Given the description of an element on the screen output the (x, y) to click on. 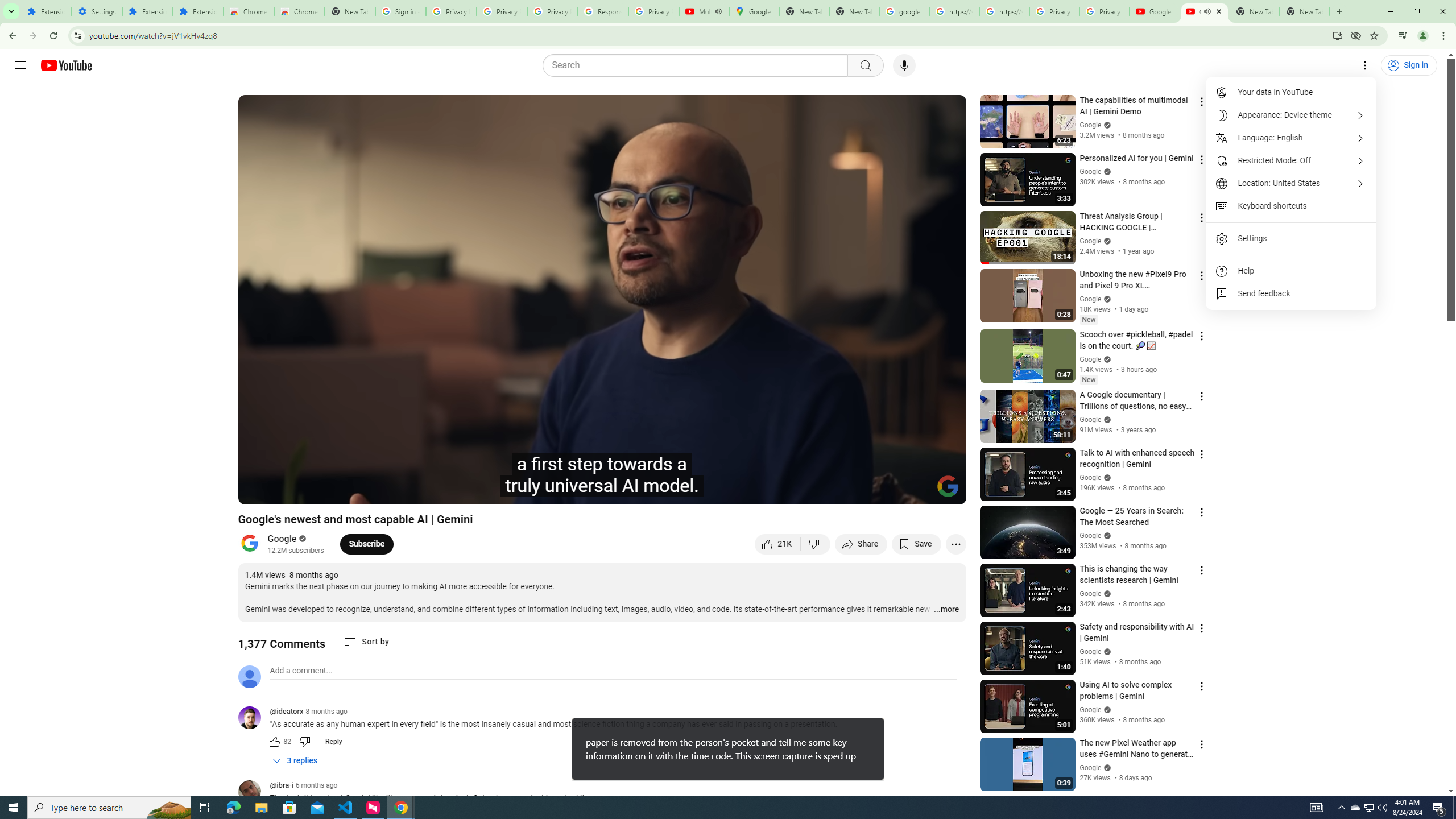
Default profile photo (248, 676)
Extensions (197, 11)
Sort comments (366, 641)
Subtitles/closed captions unavailable (836, 490)
